Given the description of an element on the screen output the (x, y) to click on. 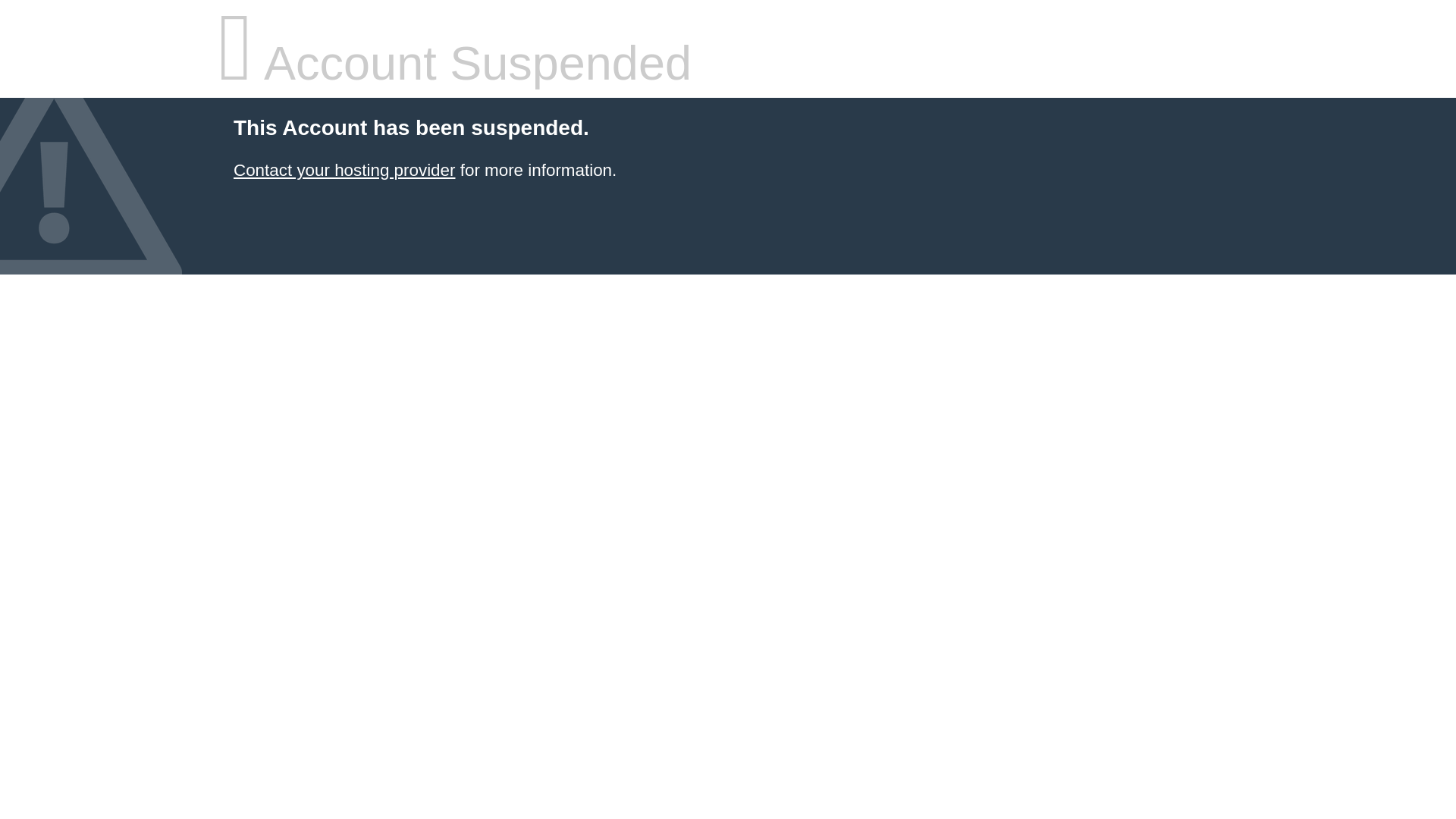
Contact your hosting provider (343, 169)
